Given the description of an element on the screen output the (x, y) to click on. 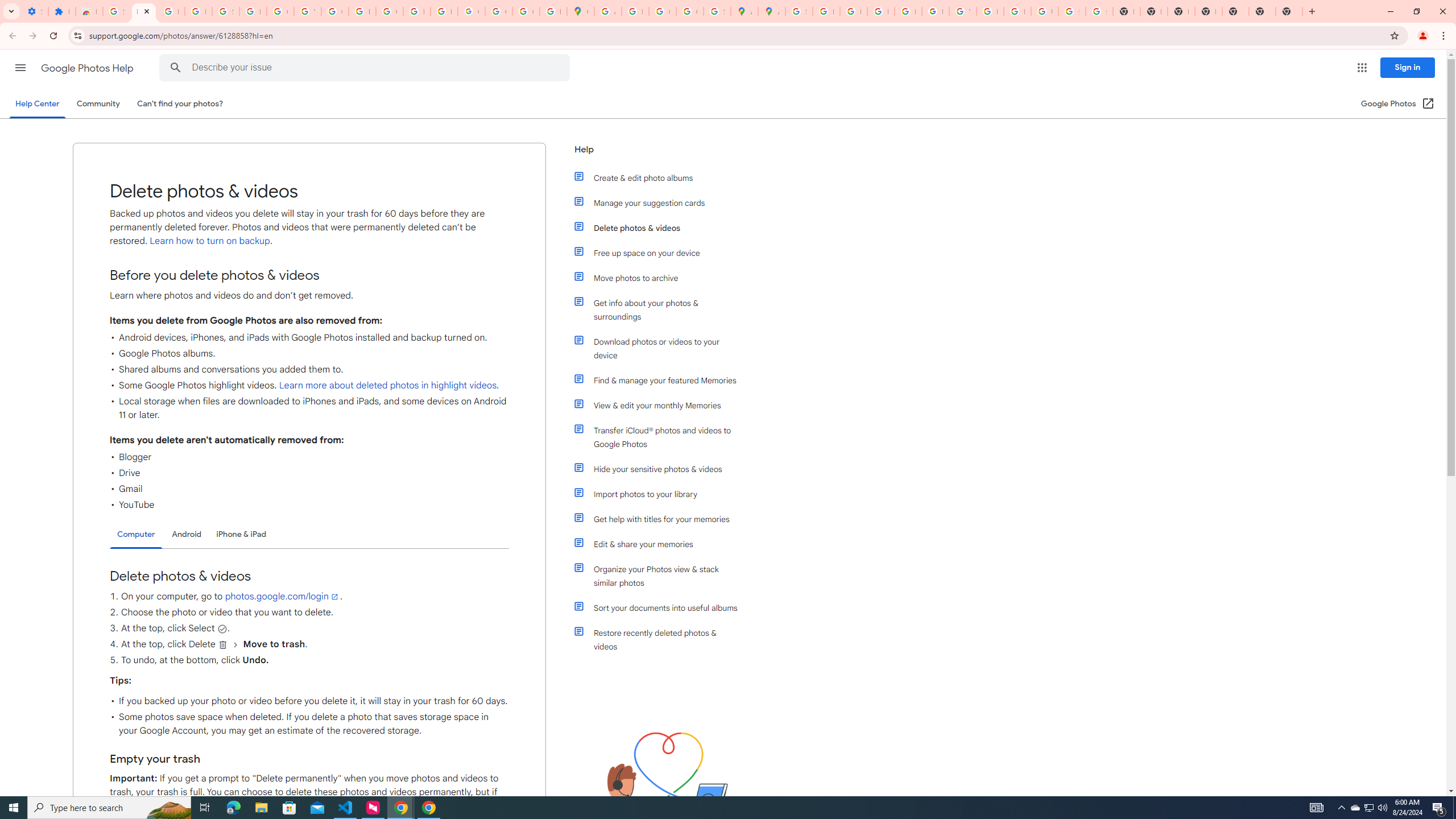
photos.google.com/login (282, 596)
Hide your sensitive photos & videos (661, 469)
Safety in Our Products - Google Safety Center (716, 11)
Free up space on your device (661, 252)
Help Center (36, 103)
Privacy Help Center - Policies Help (853, 11)
Sort your documents into useful albums (661, 607)
iPhone & iPad (240, 533)
